Given the description of an element on the screen output the (x, y) to click on. 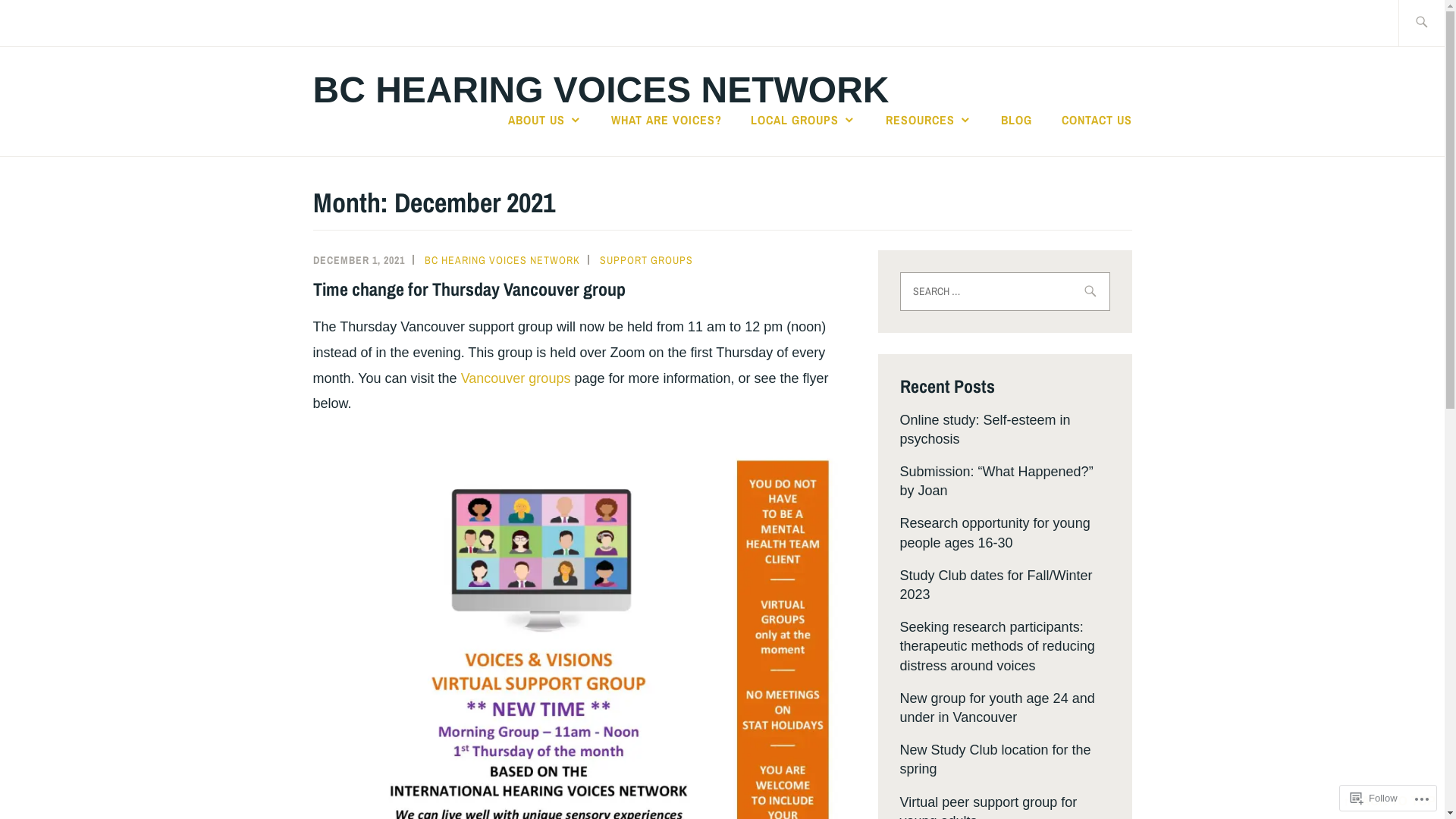
Search Element type: text (47, 21)
BC HEARING VOICES NETWORK Element type: text (600, 89)
Online study: Self-esteem in psychosis Element type: text (984, 429)
LOCAL GROUPS Element type: text (803, 119)
Vancouver groups Element type: text (516, 377)
New Study Club location for the spring Element type: text (994, 759)
Research opportunity for young people ages 16-30 Element type: text (994, 532)
Study Club dates for Fall/Winter 2023 Element type: text (995, 584)
WHAT ARE VOICES? Element type: text (666, 119)
Time change for Thursday Vancouver group Element type: text (468, 288)
ABOUT US Element type: text (545, 119)
BC HEARING VOICES NETWORK Element type: text (502, 259)
SUPPORT GROUPS Element type: text (645, 259)
New group for youth age 24 and under in Vancouver Element type: text (996, 707)
BLOG Element type: text (1016, 119)
Search for: Element type: hover (1438, 23)
Search for: Element type: hover (1004, 291)
RESOURCES Element type: text (928, 119)
CONTACT US Element type: text (1096, 119)
Follow Element type: text (1373, 797)
DECEMBER 1, 2021 Element type: text (358, 259)
